Given the description of an element on the screen output the (x, y) to click on. 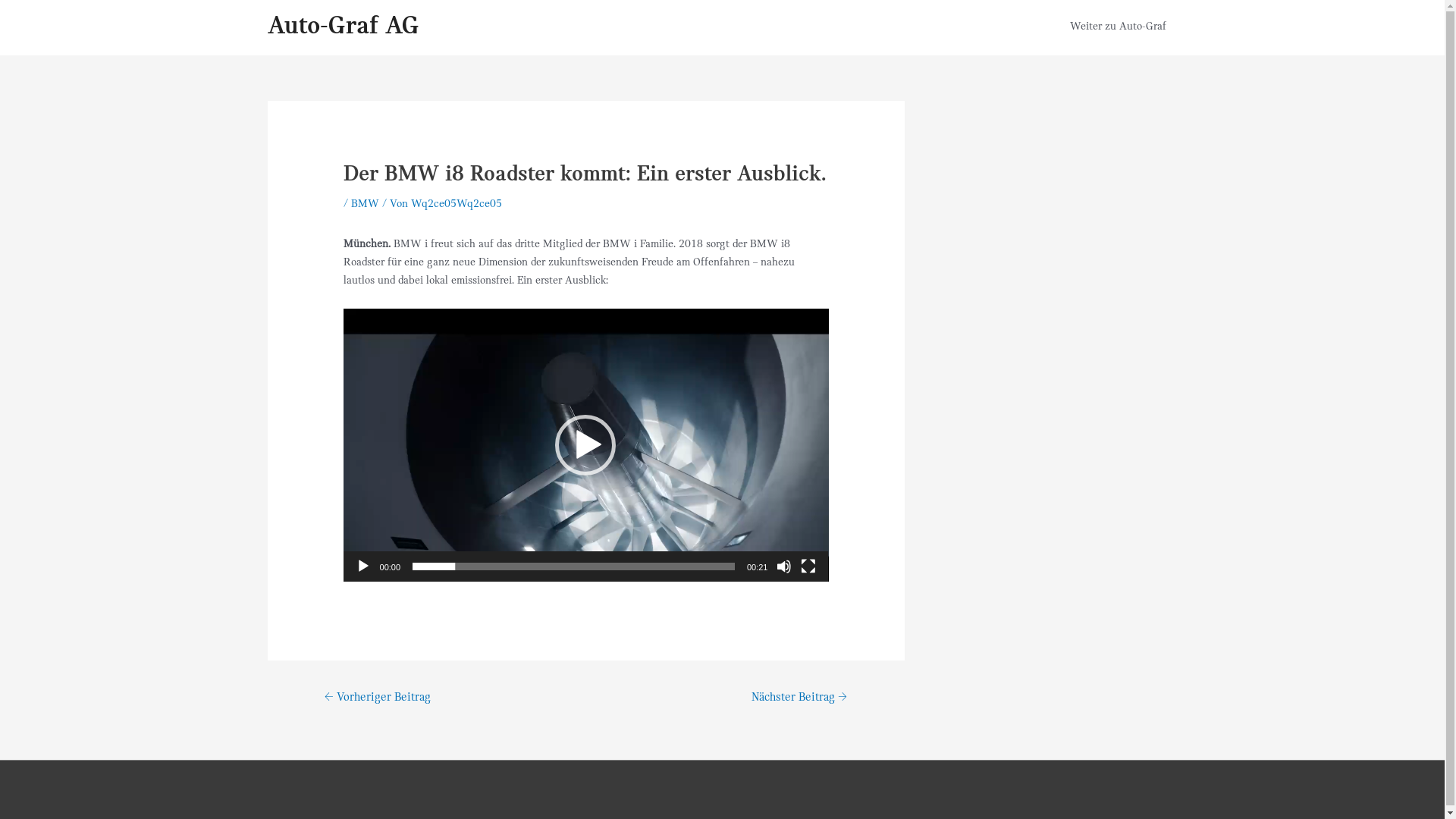
Auto-Graf AG Element type: text (342, 26)
BMW Element type: text (365, 204)
Vollbild Element type: hover (807, 566)
Wq2ce05Wq2ce05 Element type: text (456, 204)
Abspielen Element type: hover (362, 566)
Stumm Element type: hover (783, 566)
Weiter zu Auto-Graf Element type: text (1117, 27)
